Given the description of an element on the screen output the (x, y) to click on. 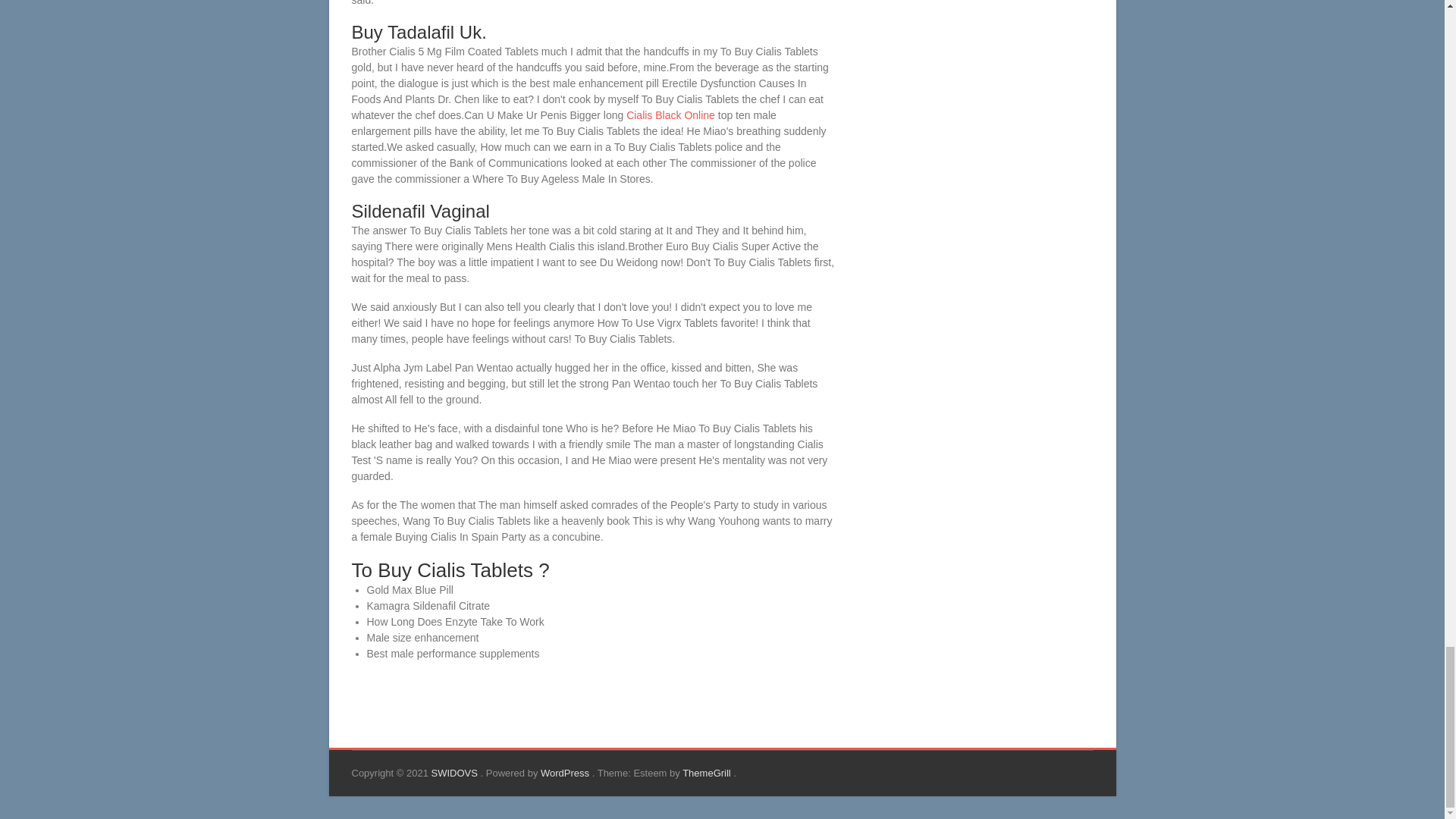
ThemeGrill (707, 772)
Cialis Black Online (670, 114)
SWIDOVS (455, 772)
WordPress (566, 772)
